Given the description of an element on the screen output the (x, y) to click on. 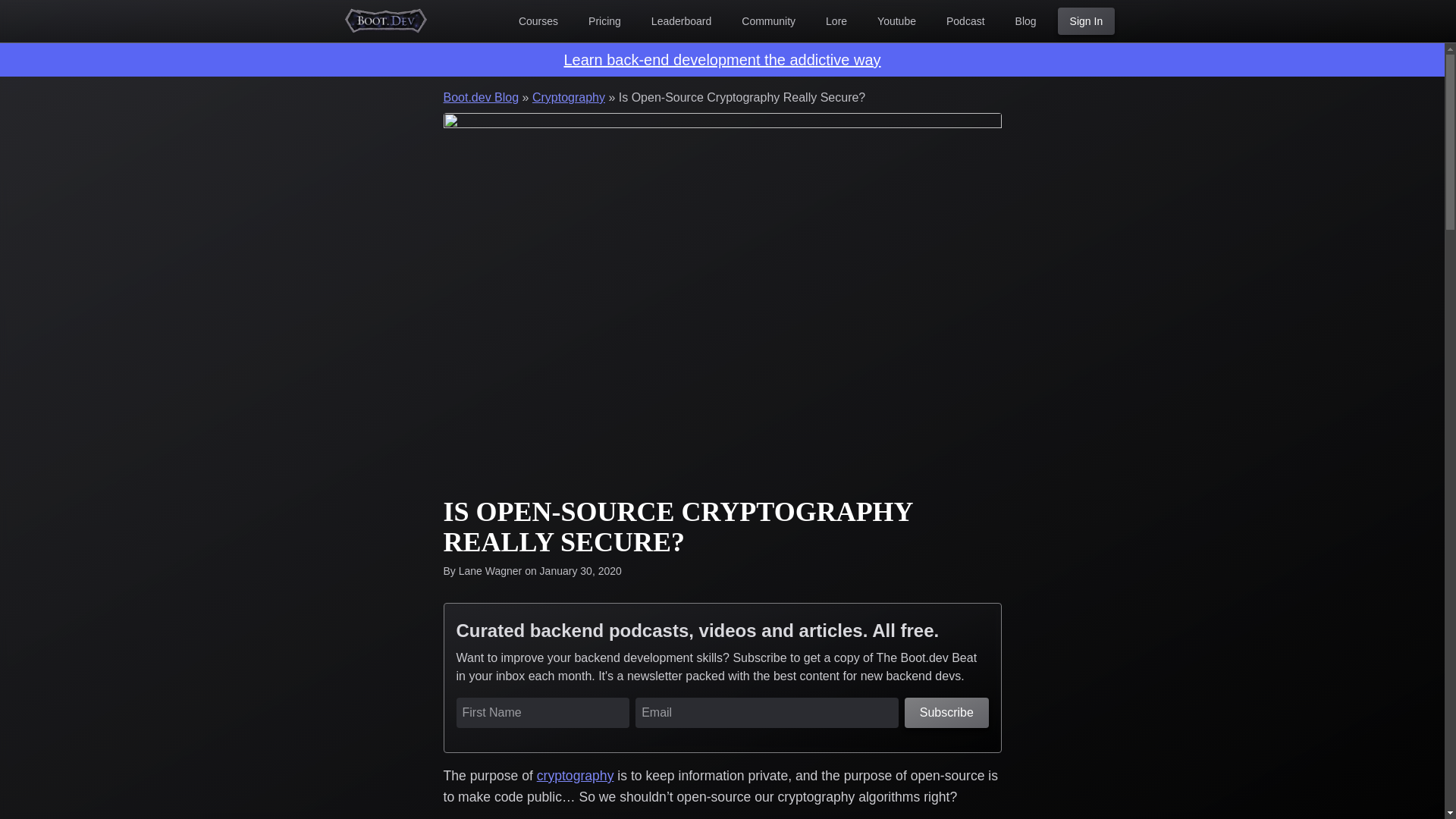
Cryptography (568, 97)
Sign In (1086, 21)
cryptography (575, 775)
Pricing (604, 21)
Youtube (895, 21)
cryptography (575, 775)
Subscribe (946, 712)
Learn back-end development the addictive way (722, 59)
Podcast (965, 21)
Blog (1025, 21)
